Given the description of an element on the screen output the (x, y) to click on. 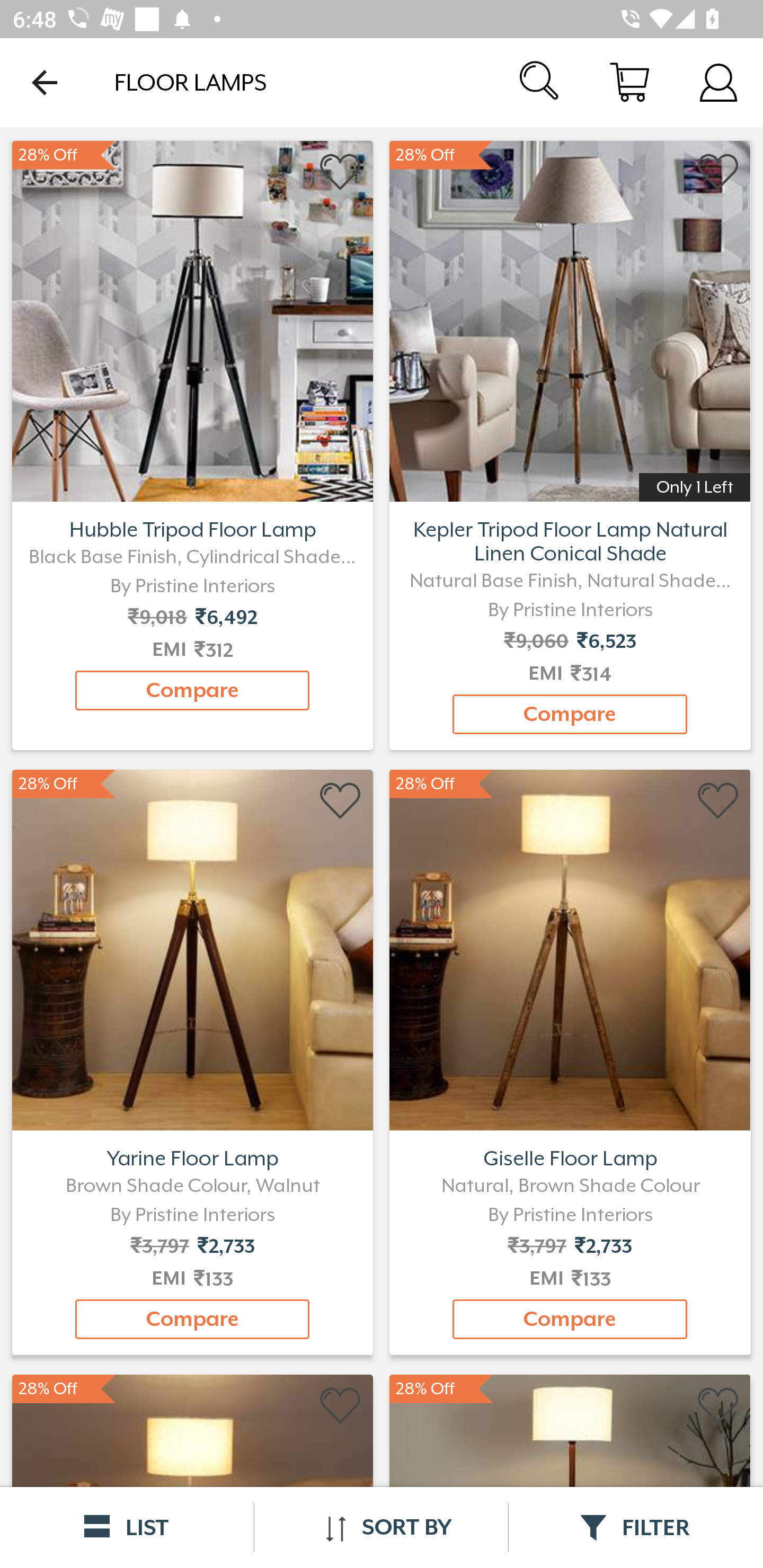
Navigate up (44, 82)
Search (540, 81)
Cart (629, 81)
Account Details (718, 81)
1574+ options Floor Lamps Starting from  ₹1,247 (191, 318)
2354+ options Table Lamps Starting from  ₹630 (570, 318)
 (341, 172)
 (718, 172)
Compare (192, 690)
Compare (569, 713)
 (341, 800)
 (718, 800)
Compare (192, 1319)
Compare (569, 1319)
 (341, 1406)
 (718, 1406)
 LIST (127, 1527)
SORT BY (381, 1527)
 FILTER (635, 1527)
